Given the description of an element on the screen output the (x, y) to click on. 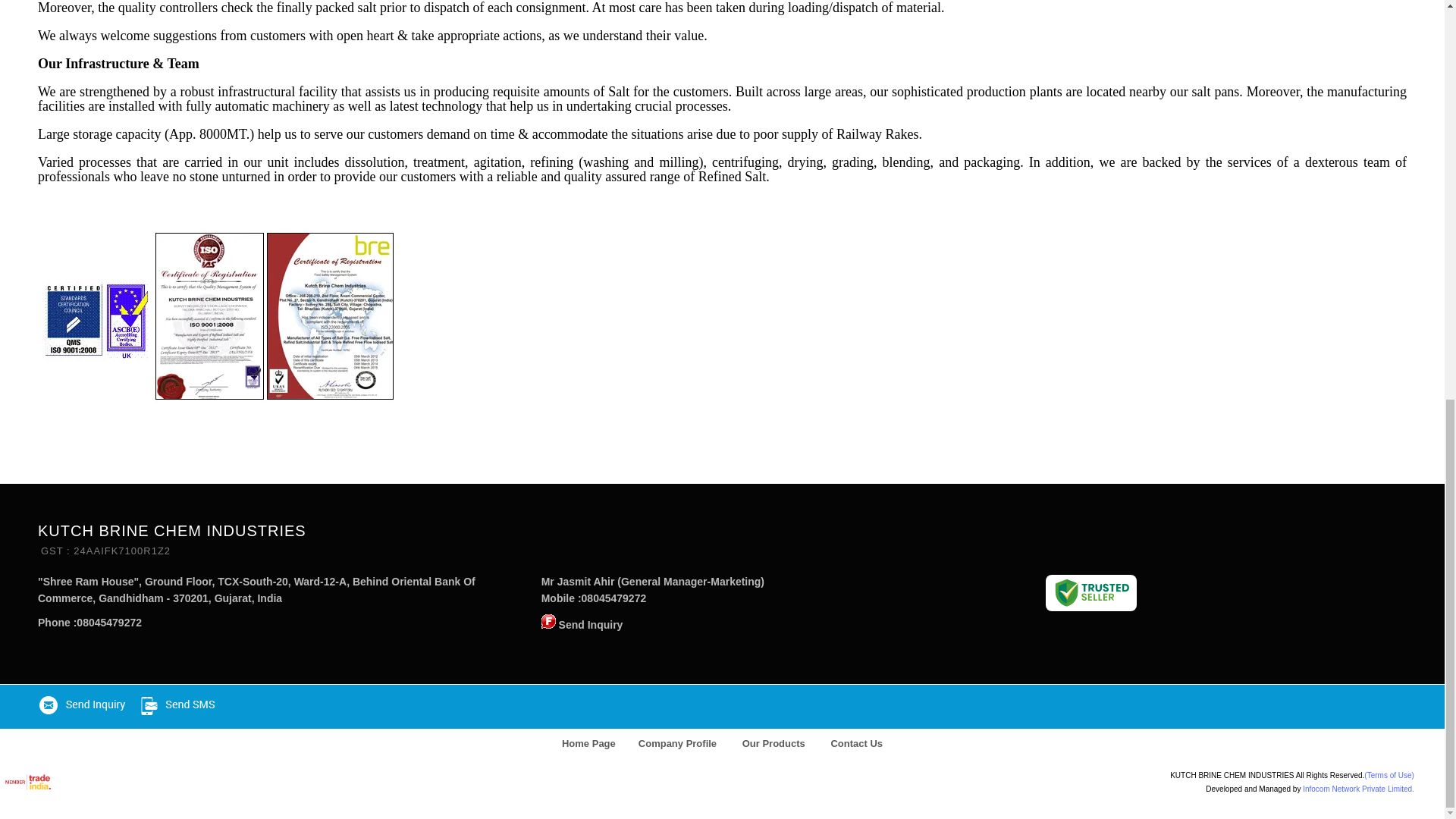
Company Profile (677, 743)
Accepts only Export Inquiries (548, 621)
Home Page (588, 743)
Send Inquiry (591, 624)
Our Products (773, 743)
